Given the description of an element on the screen output the (x, y) to click on. 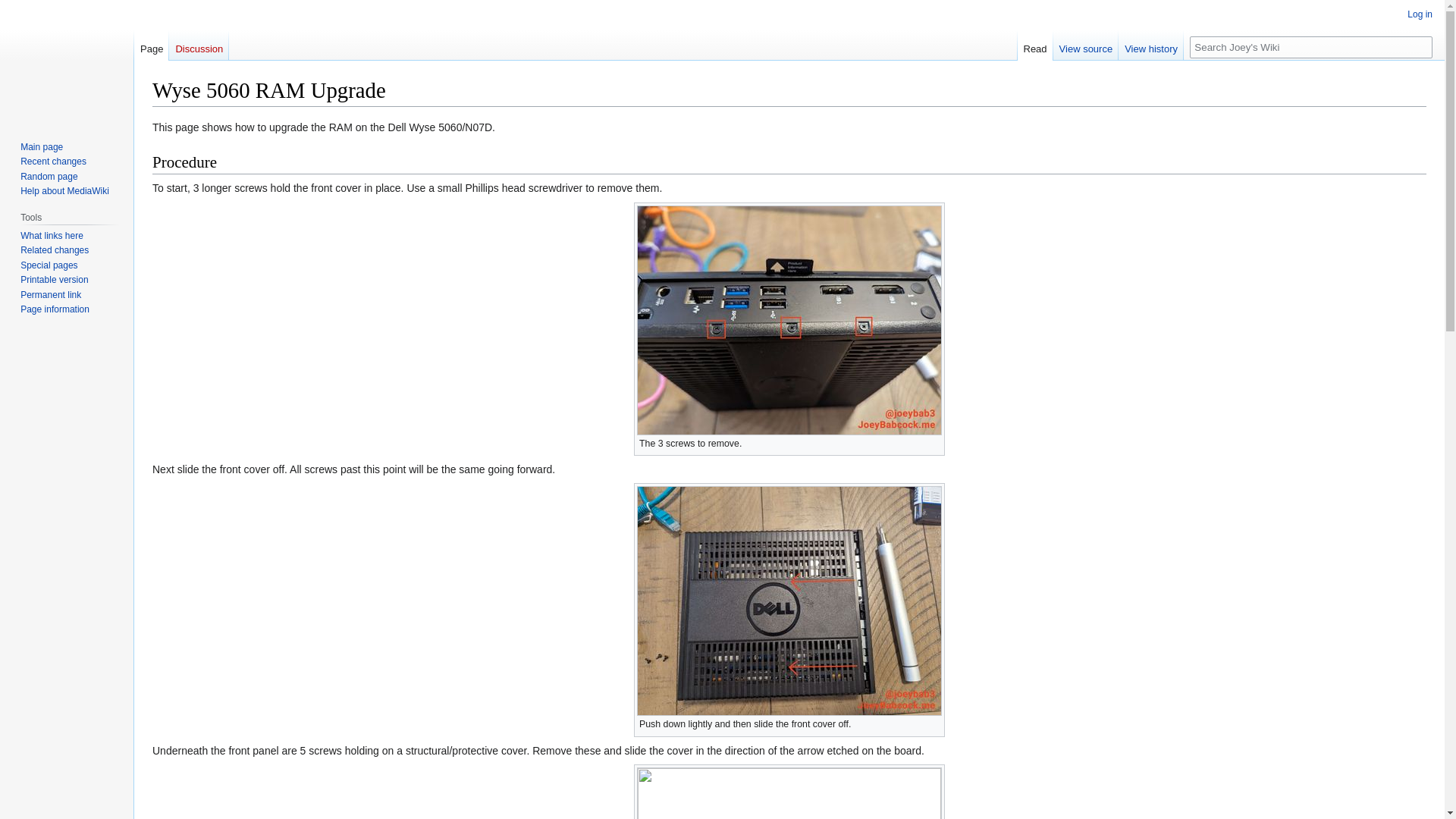
Special pages (48, 265)
Go (1420, 46)
Help about MediaWiki (64, 190)
Read (1034, 45)
Related changes (54, 249)
Go (1420, 46)
What links here (51, 235)
Discussion (198, 45)
Search (1420, 46)
Permanent link (50, 294)
